Given the description of an element on the screen output the (x, y) to click on. 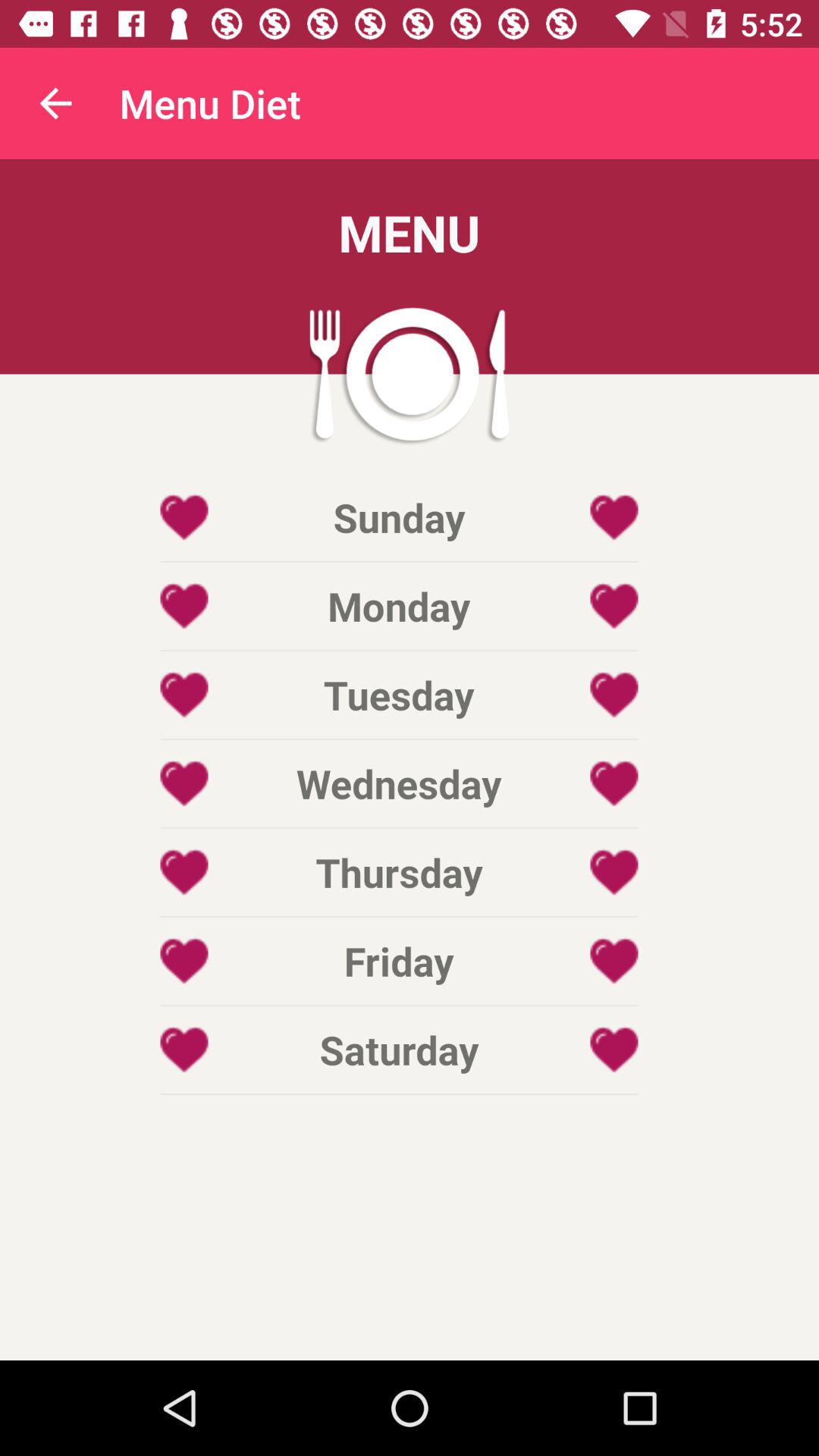
flip to the sunday (399, 516)
